Given the description of an element on the screen output the (x, y) to click on. 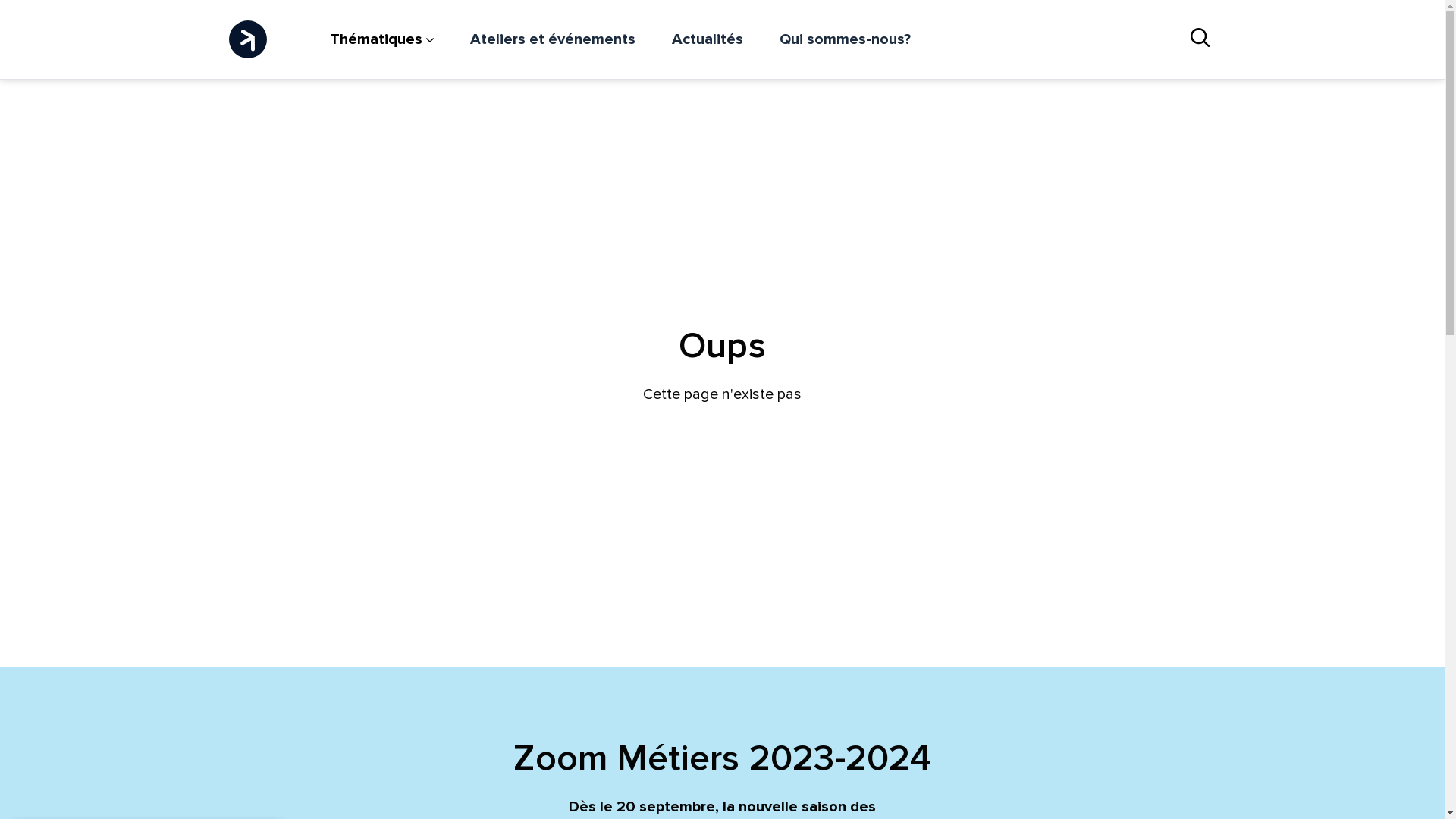
Qui sommes-nous? Element type: text (844, 39)
Rechercher Element type: text (1199, 39)
